Given the description of an element on the screen output the (x, y) to click on. 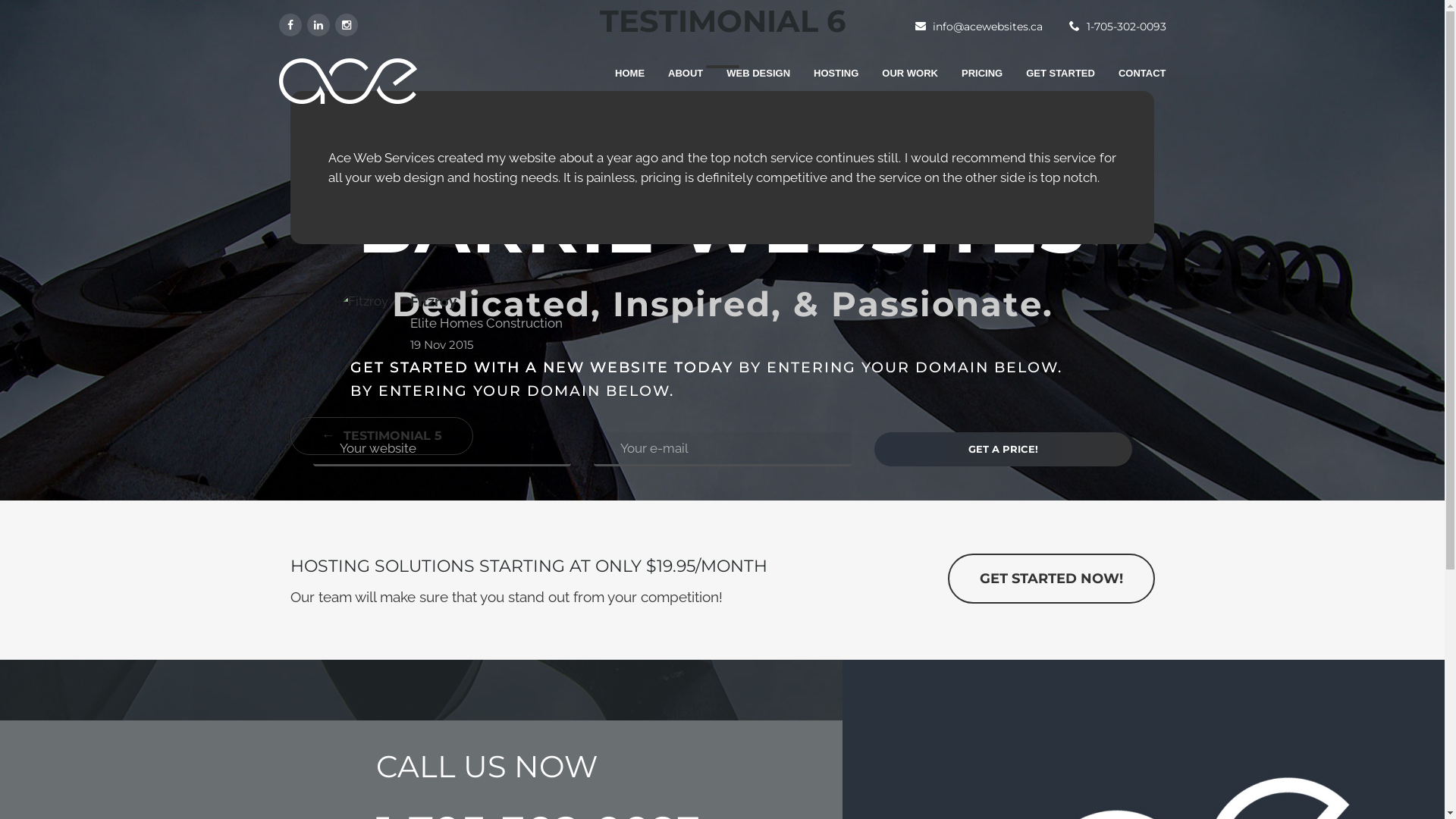
ABOUT Element type: text (674, 80)
OUR WORK Element type: text (898, 80)
GET STARTED Element type: text (1049, 80)
Get a Price! Element type: text (1002, 449)
HOME Element type: text (618, 80)
HOSTING Element type: text (824, 80)
PRICING Element type: text (970, 80)
1-705-302-0093 Element type: text (1125, 26)
info@acewebsites.ca Element type: text (987, 26)
CONTACT Element type: text (1130, 80)
GET STARTED NOW! Element type: text (1050, 578)
WEB DESIGN Element type: text (746, 80)
